Given the description of an element on the screen output the (x, y) to click on. 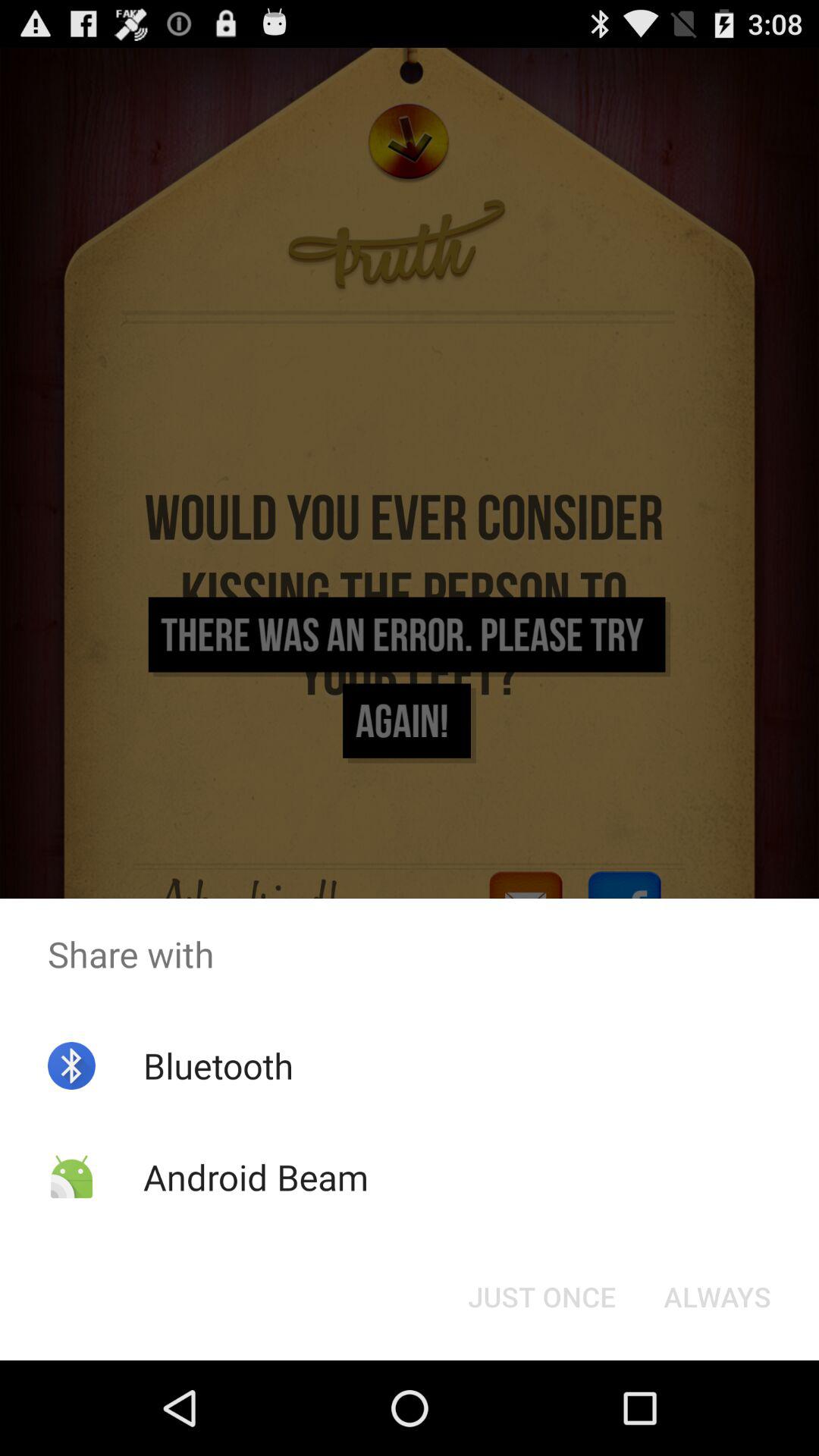
open just once button (541, 1296)
